Given the description of an element on the screen output the (x, y) to click on. 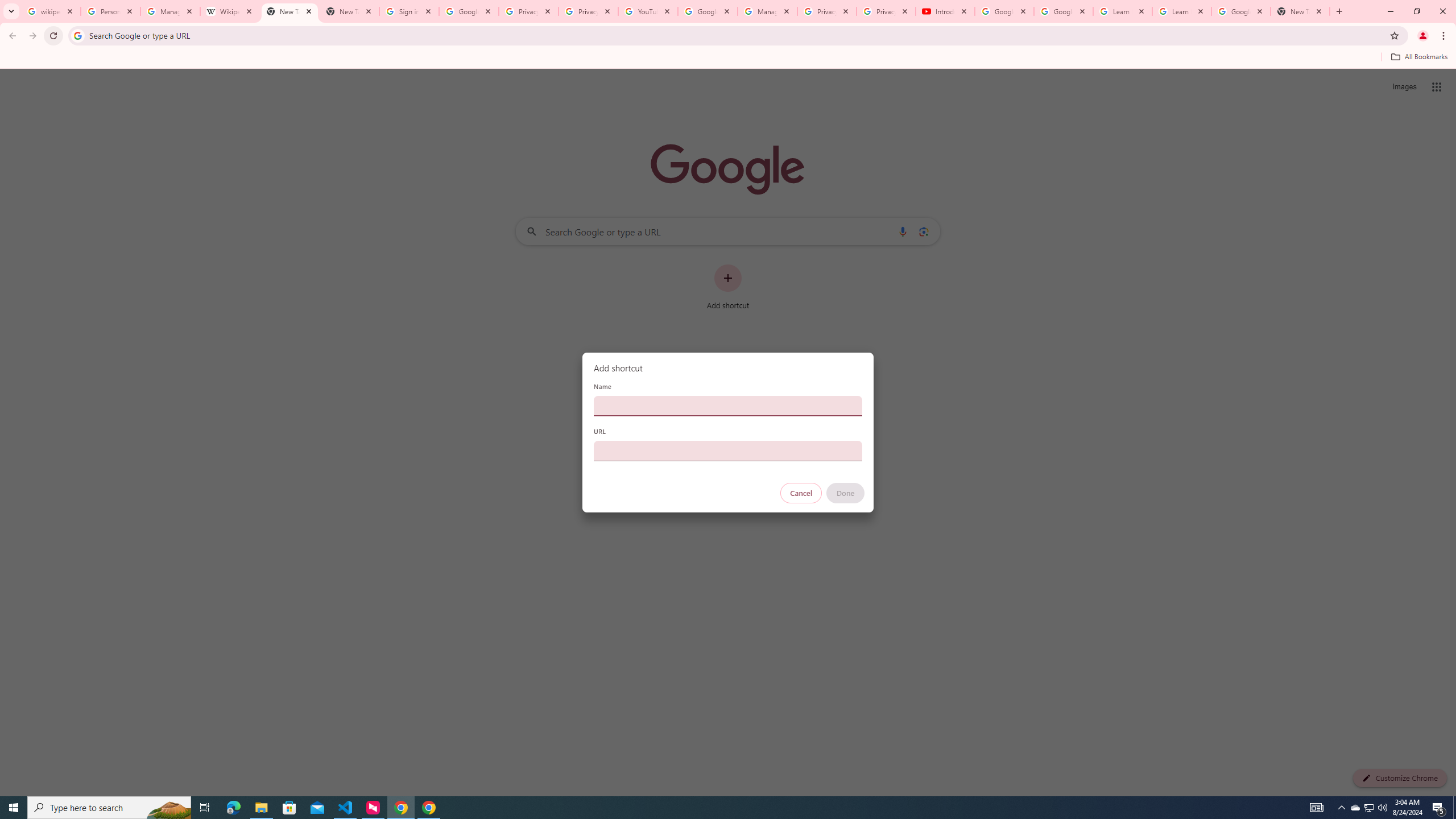
New Tab (349, 11)
Google Account (1241, 11)
Personalization & Google Search results - Google Search Help (110, 11)
Name (727, 405)
Introduction | Google Privacy Policy - YouTube (944, 11)
